Given the description of an element on the screen output the (x, y) to click on. 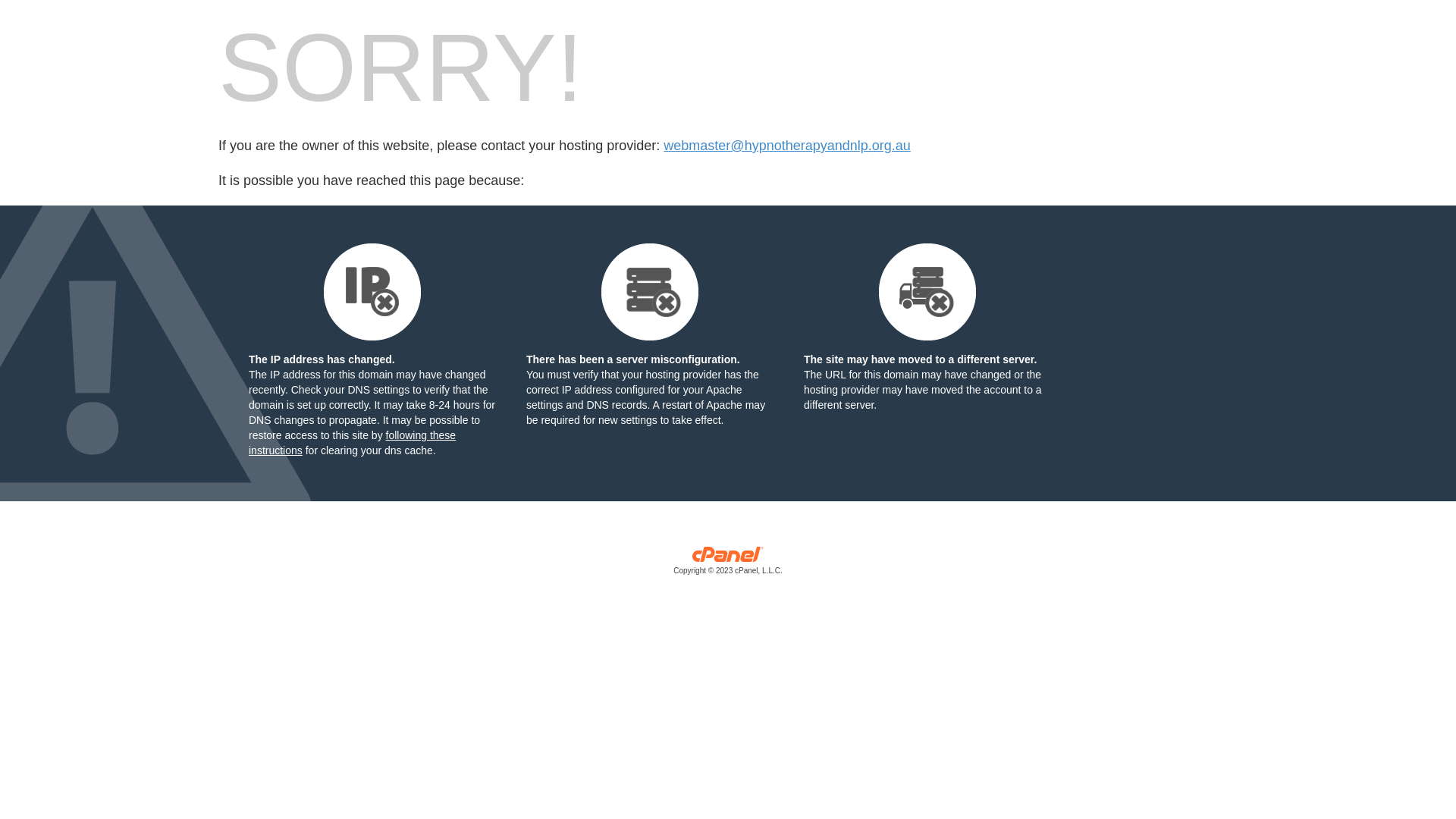
following these instructions Element type: text (351, 442)
webmaster@hypnotherapyandnlp.org.au Element type: text (786, 145)
